Given the description of an element on the screen output the (x, y) to click on. 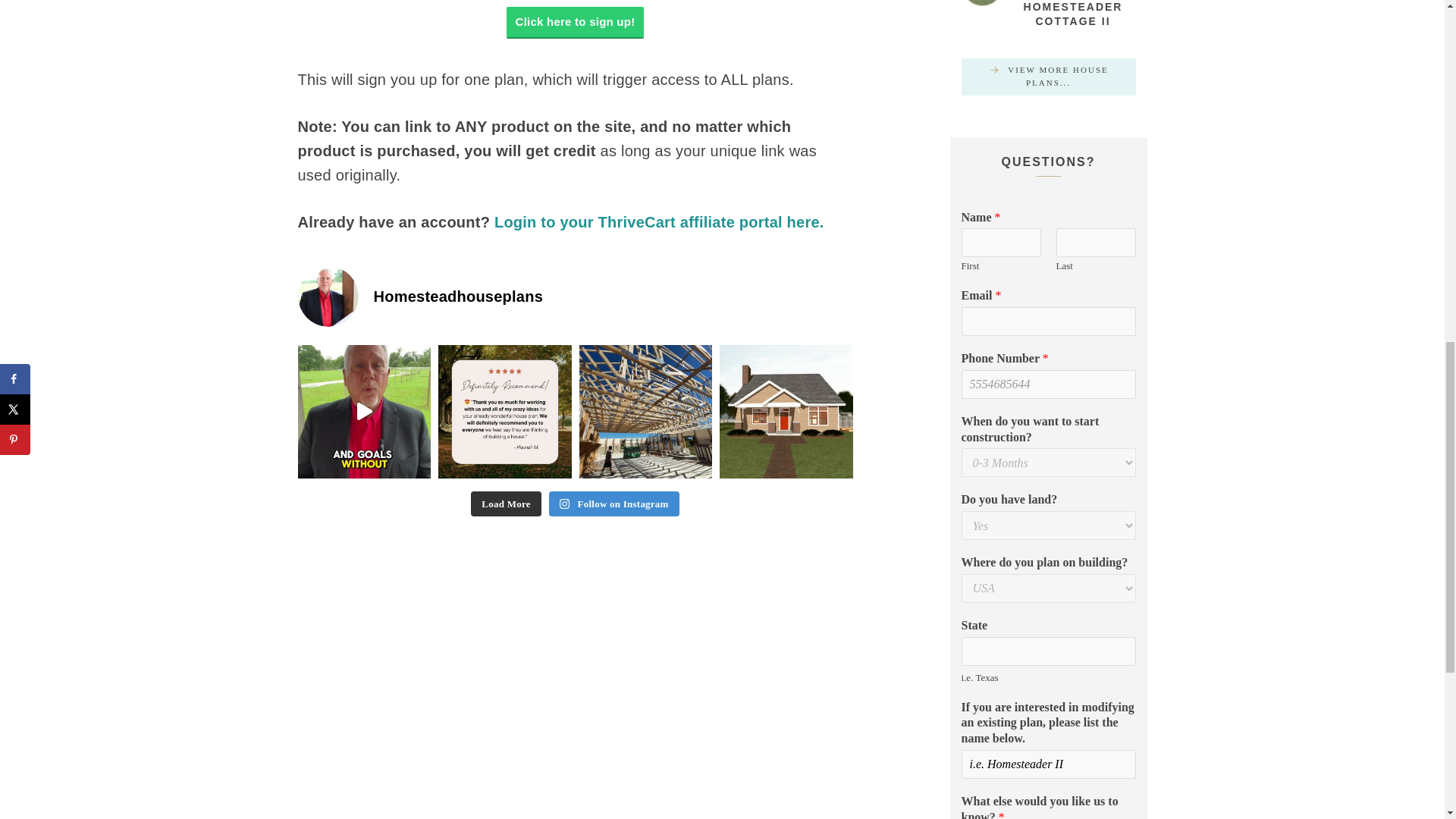
Load More (505, 503)
The Homesteader Cottage II (981, 2)
VIEW MORE HOUSE PLANS... (1047, 76)
Follow on Instagram (613, 503)
All House Plans (1047, 76)
THE HOMESTEADER COTTAGE II (1072, 13)
Homesteadhouseplans (574, 296)
Login to your ThriveCart affiliate portal here. (659, 221)
Click here to sign up! (575, 22)
5554685644 (1047, 384)
